Given the description of an element on the screen output the (x, y) to click on. 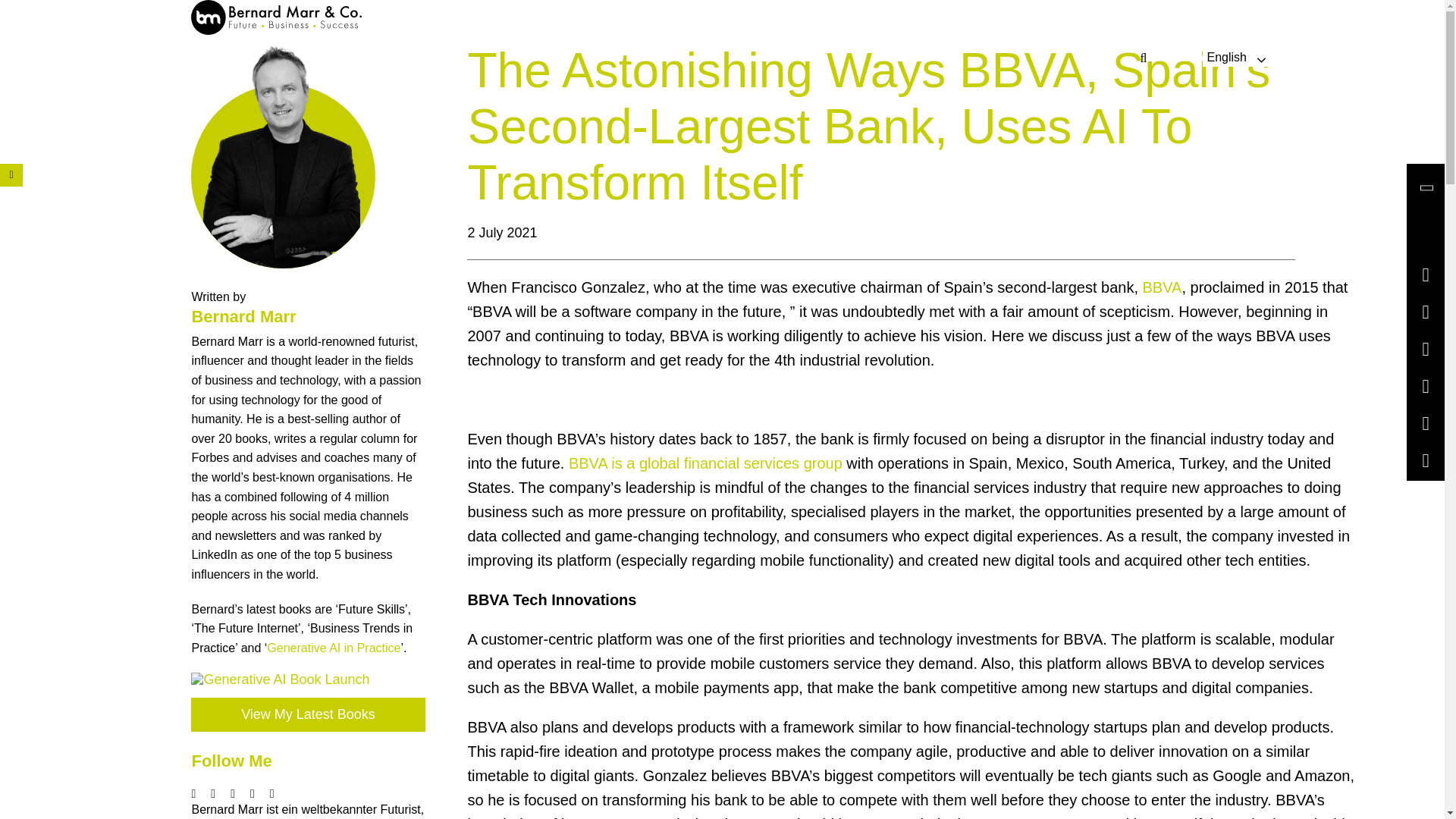
Generative AI in Practice (333, 647)
English (1226, 56)
View My Latest Books (307, 714)
